Given the description of an element on the screen output the (x, y) to click on. 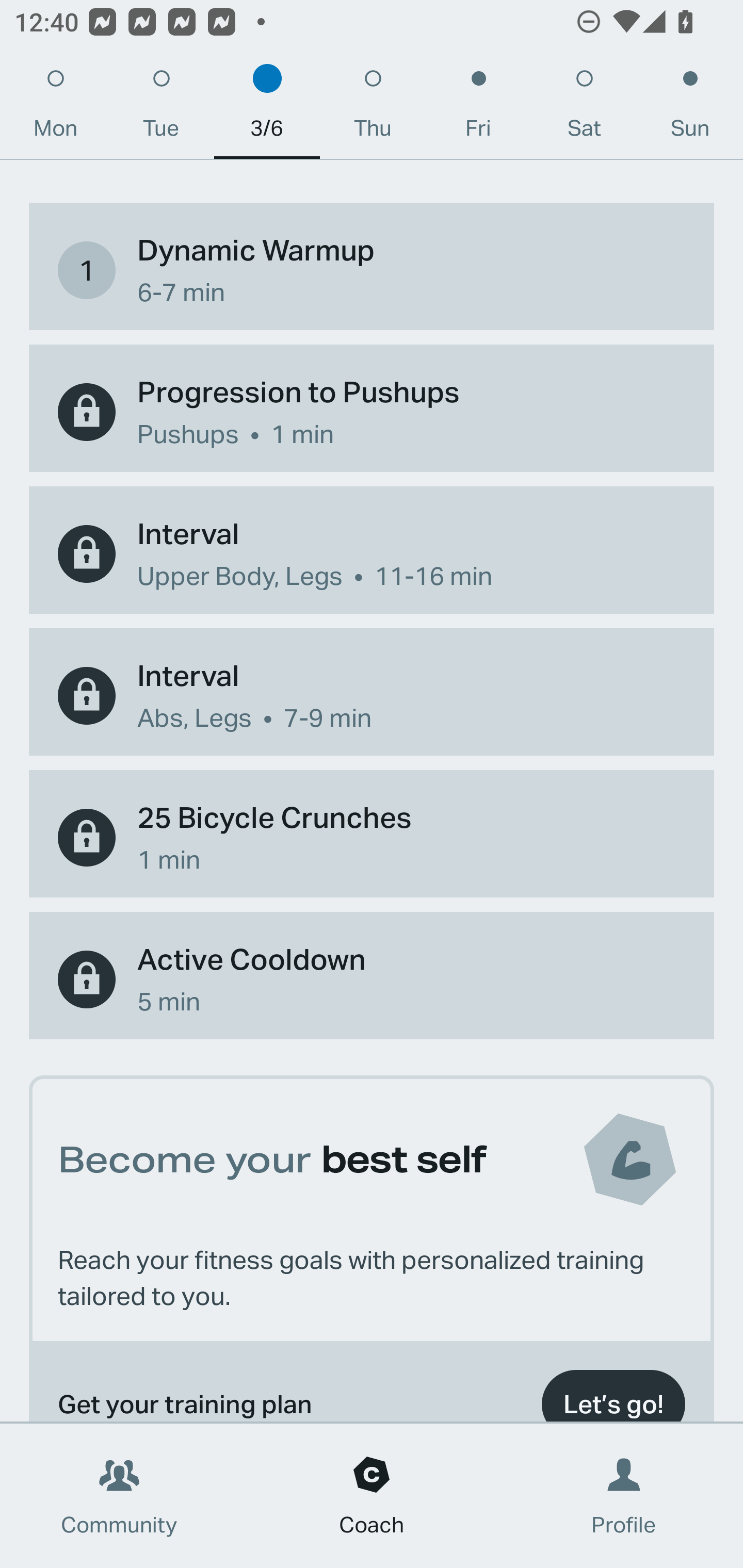
Mon (55, 108)
Tue (160, 108)
3/6 (266, 108)
Thu (372, 108)
Fri (478, 108)
Sat (584, 108)
Sun (690, 108)
1 Dynamic Warmup 6-7 min (371, 270)
Progression to Pushups Pushups  •  1 min (371, 411)
Interval Upper Body, Legs  •  11-16 min (371, 554)
Interval Abs, Legs  •  7-9 min (371, 695)
25 Bicycle Crunches 1 min (371, 837)
Active Cooldown 5 min (371, 979)
Let’s go! (613, 1391)
Community (119, 1495)
Profile (624, 1495)
